Given the description of an element on the screen output the (x, y) to click on. 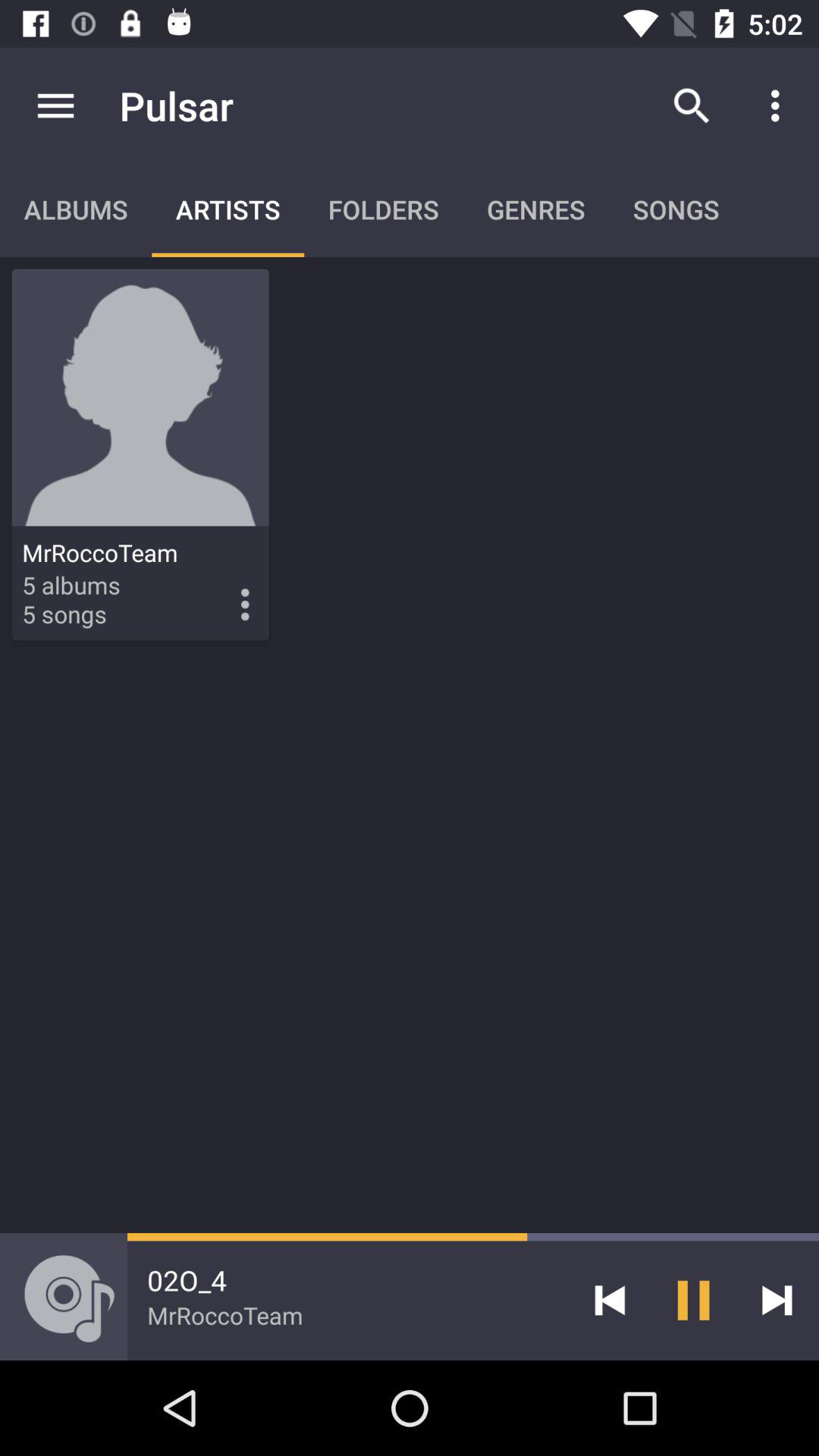
tap item to the left of pulsar app (55, 105)
